Given the description of an element on the screen output the (x, y) to click on. 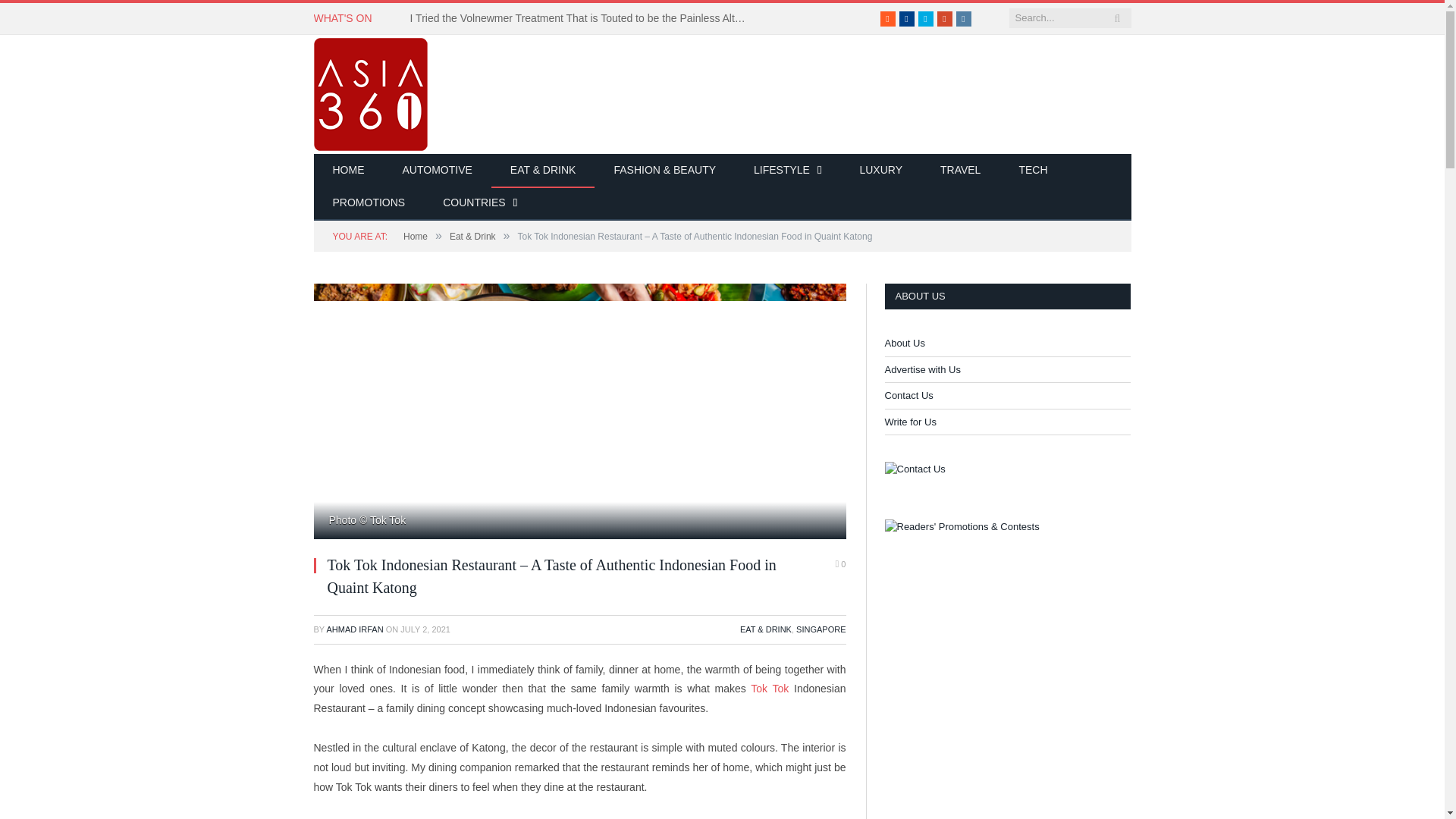
Instagram (963, 18)
RSS (887, 18)
LUXURY (880, 170)
Instagram (963, 18)
Asia 361 (371, 91)
TECH (1031, 170)
PROMOTIONS (369, 203)
Facebook (906, 18)
Facebook (906, 18)
